Given the description of an element on the screen output the (x, y) to click on. 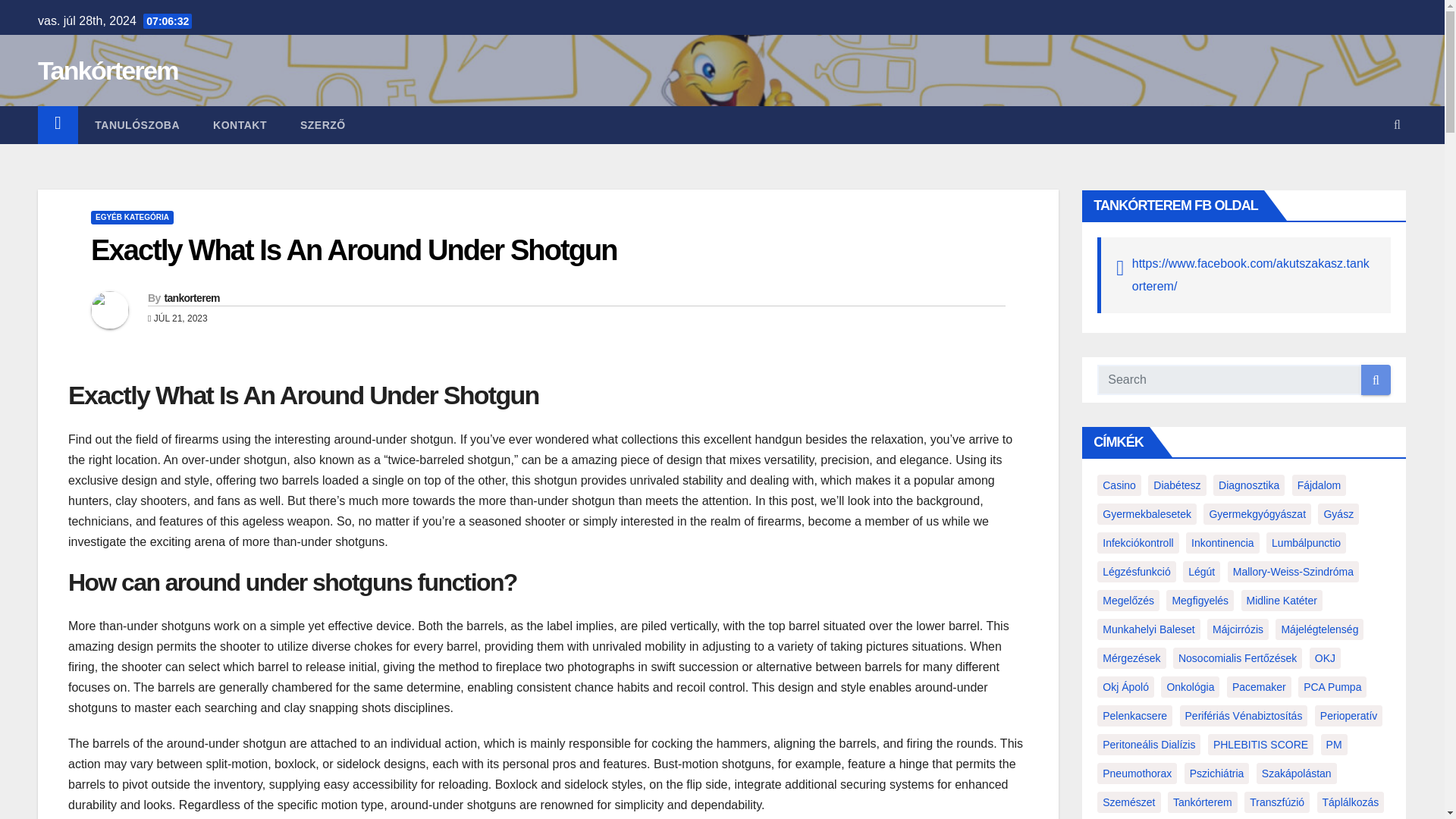
Exactly What Is An Around Under Shotgun (353, 250)
KONTAKT (239, 125)
Casino (1119, 485)
Permalink to: Exactly What Is An Around Under Shotgun (353, 250)
tankorterem (191, 297)
